Given the description of an element on the screen output the (x, y) to click on. 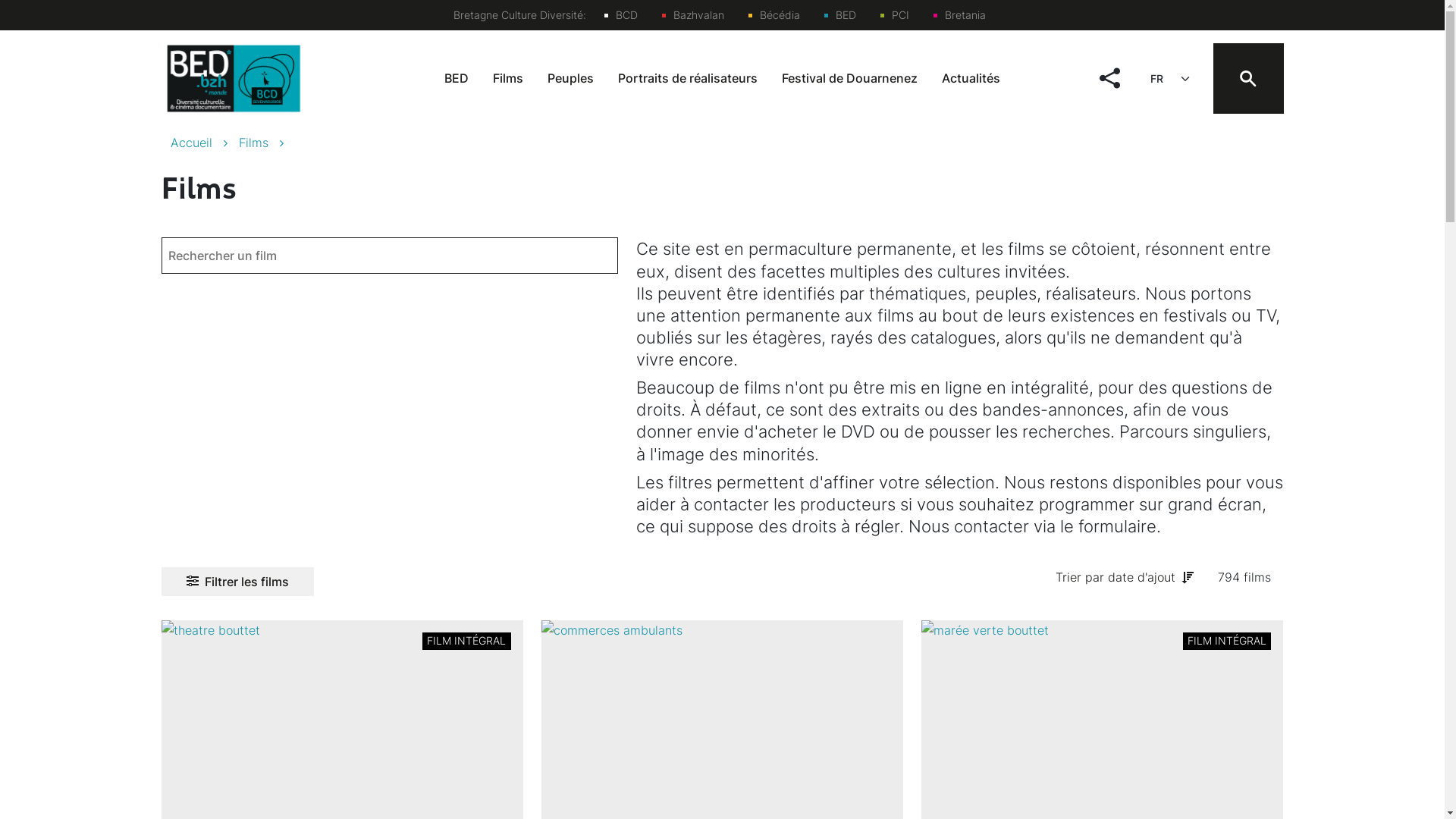
Bazhvalan Element type: text (692, 15)
Films Element type: text (507, 78)
Peuples Element type: text (570, 78)
BCD Element type: text (620, 15)
Apply Element type: text (41, 18)
Filtrer les films Element type: text (236, 581)
Rechercher Element type: text (838, 126)
BED Element type: text (839, 15)
Accueil Element type: text (203, 142)
BED Element type: text (456, 78)
Films Element type: text (266, 142)
Bretania Element type: text (958, 15)
PCI Element type: text (893, 15)
Trier par date d'ajout Element type: text (1124, 577)
Festival de Douarnenez Element type: text (849, 78)
